Given the description of an element on the screen output the (x, y) to click on. 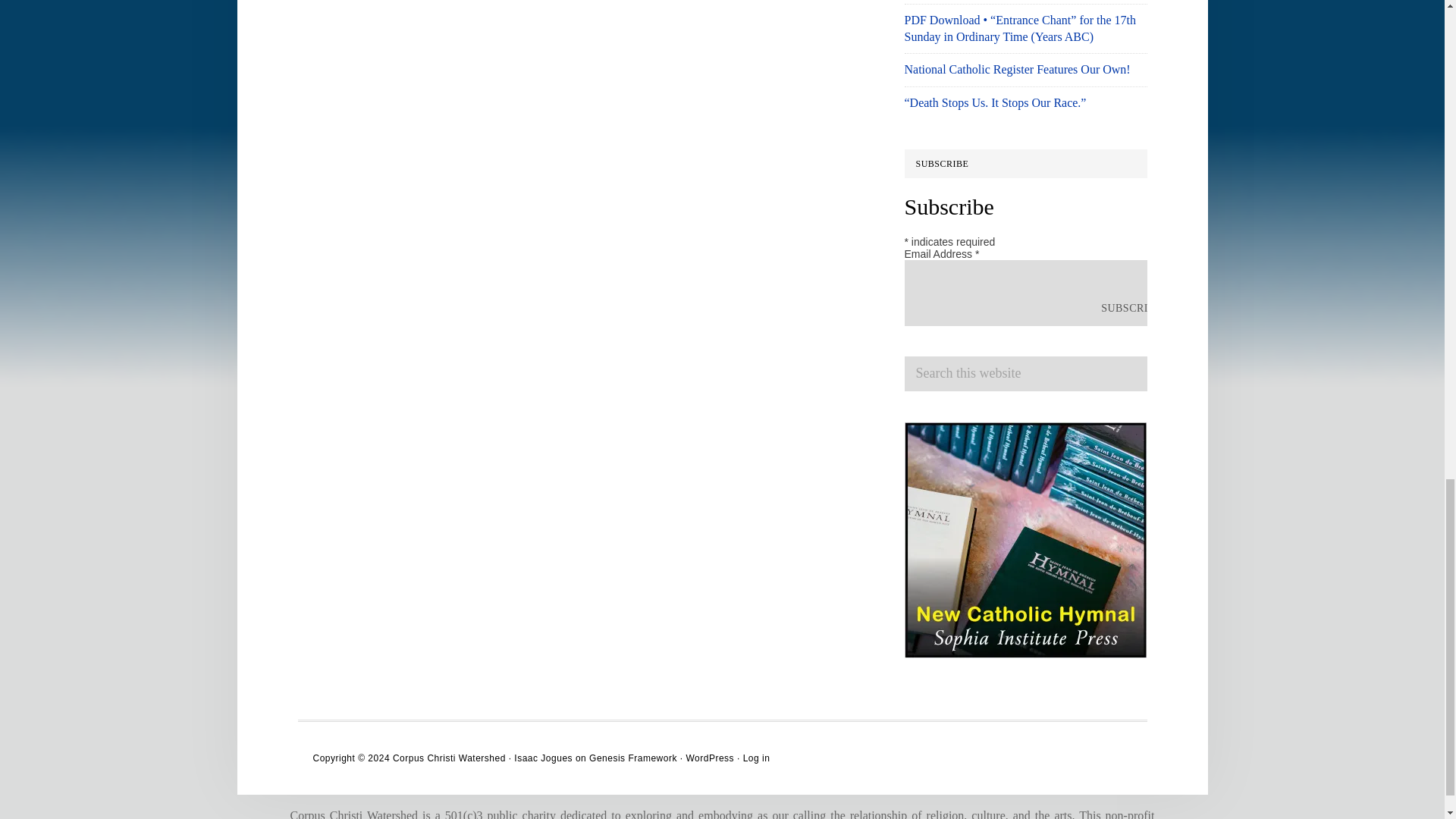
Subscribe (1131, 308)
